Given the description of an element on the screen output the (x, y) to click on. 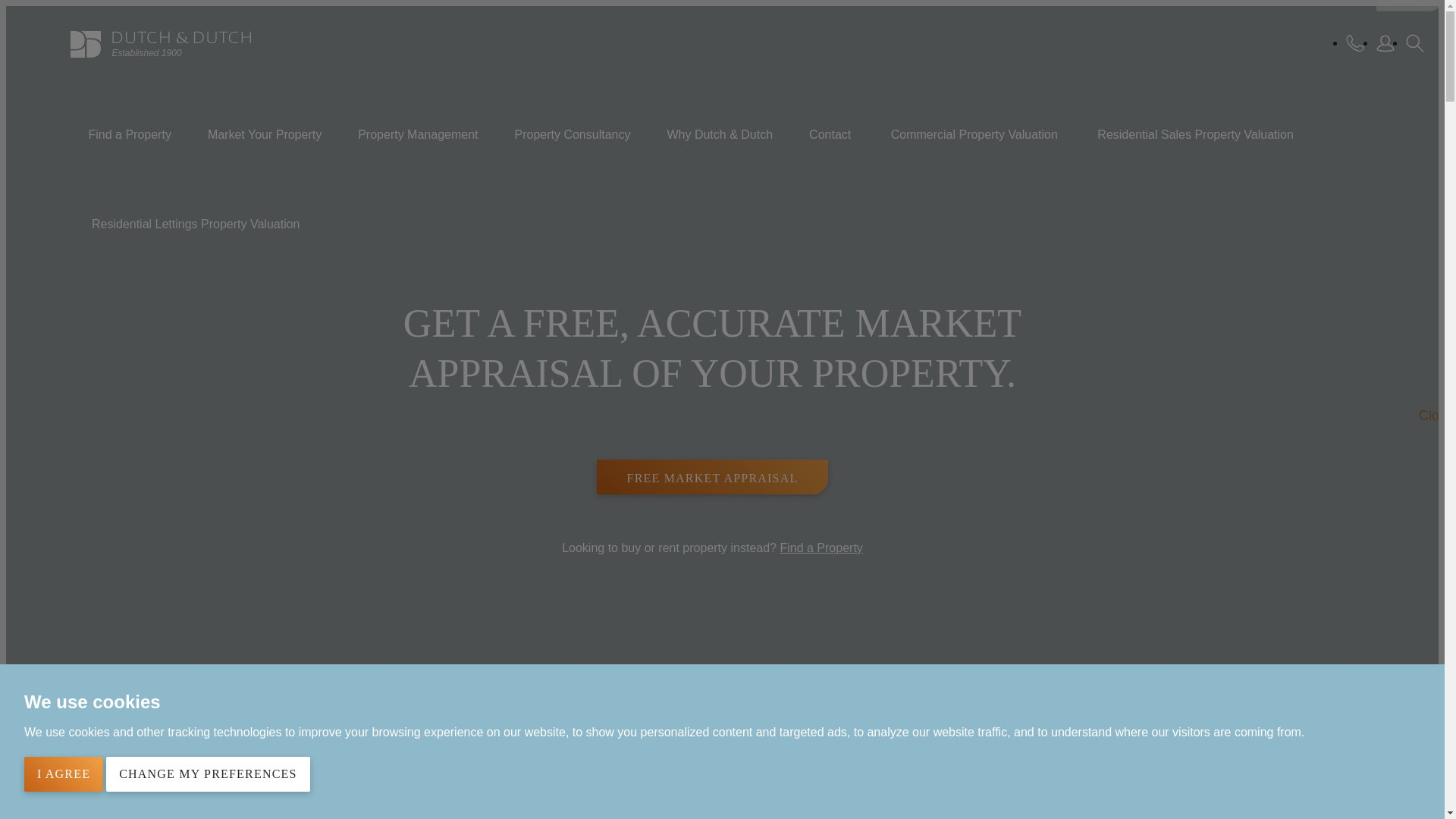
Established 1900 (159, 44)
Market Your Property (264, 134)
CHANGE MY PREFERENCES (207, 773)
I AGREE (63, 773)
dutchndutch (159, 44)
Find a Property (129, 134)
Property Management (417, 134)
